Given the description of an element on the screen output the (x, y) to click on. 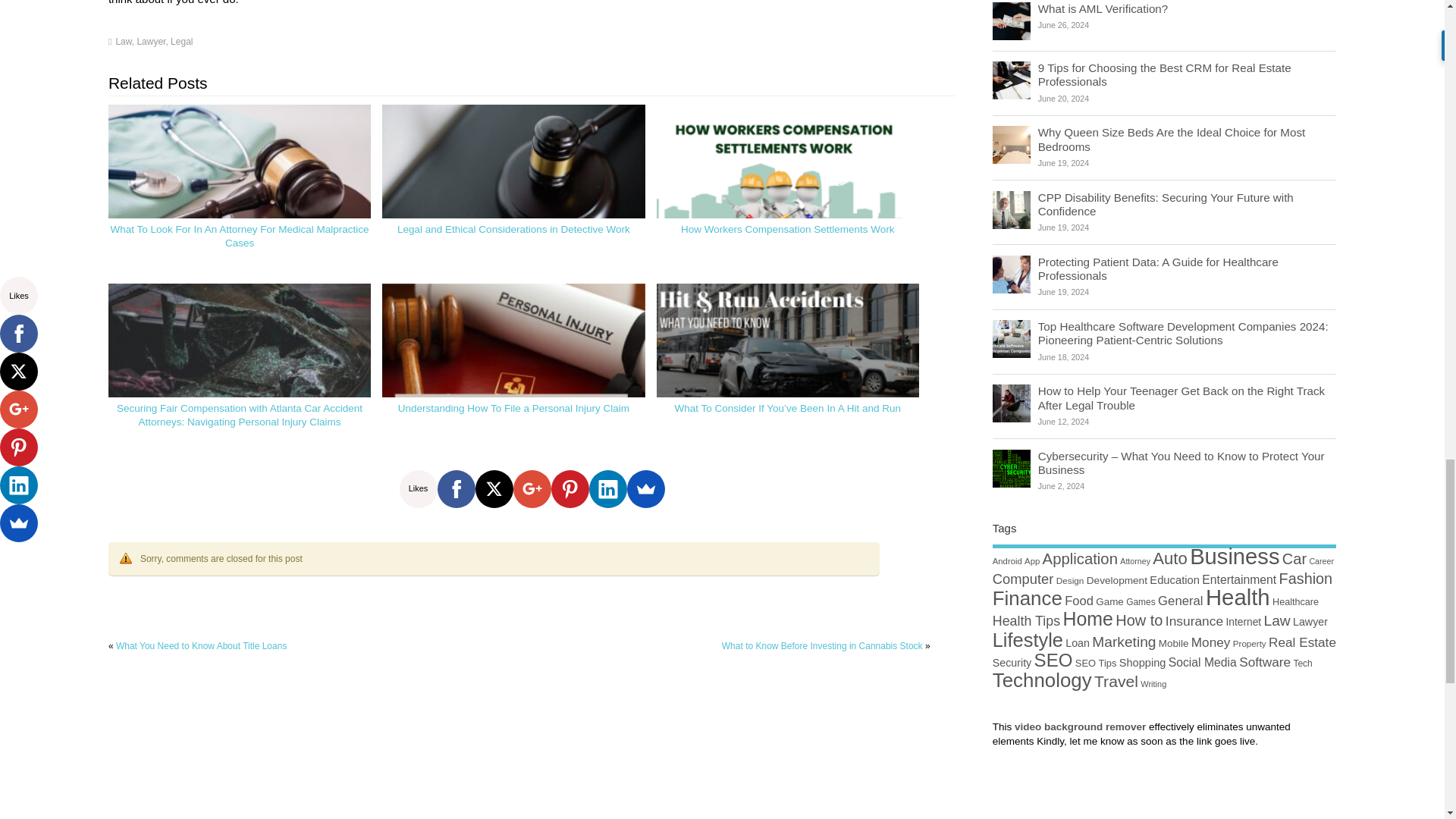
Legal and Ethical Considerations in Detective Work (513, 192)
How Workers Compensation Settlements Work (787, 192)
How Workers Compensation Settlements Work (788, 229)
Legal and Ethical Considerations in Detective Work (513, 229)
